Given the description of an element on the screen output the (x, y) to click on. 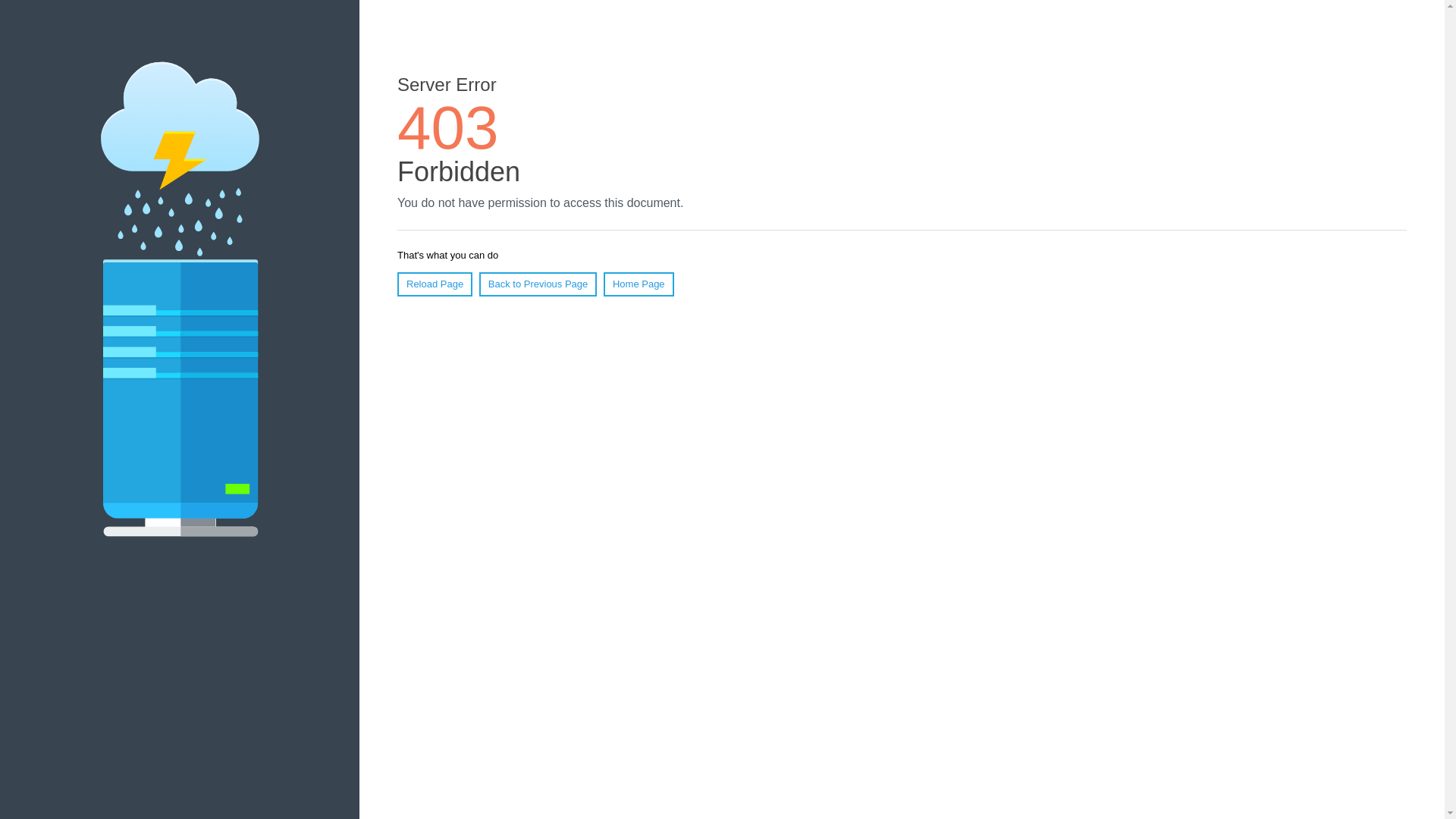
Reload Page Element type: text (434, 284)
Back to Previous Page Element type: text (538, 284)
Home Page Element type: text (638, 284)
